Given the description of an element on the screen output the (x, y) to click on. 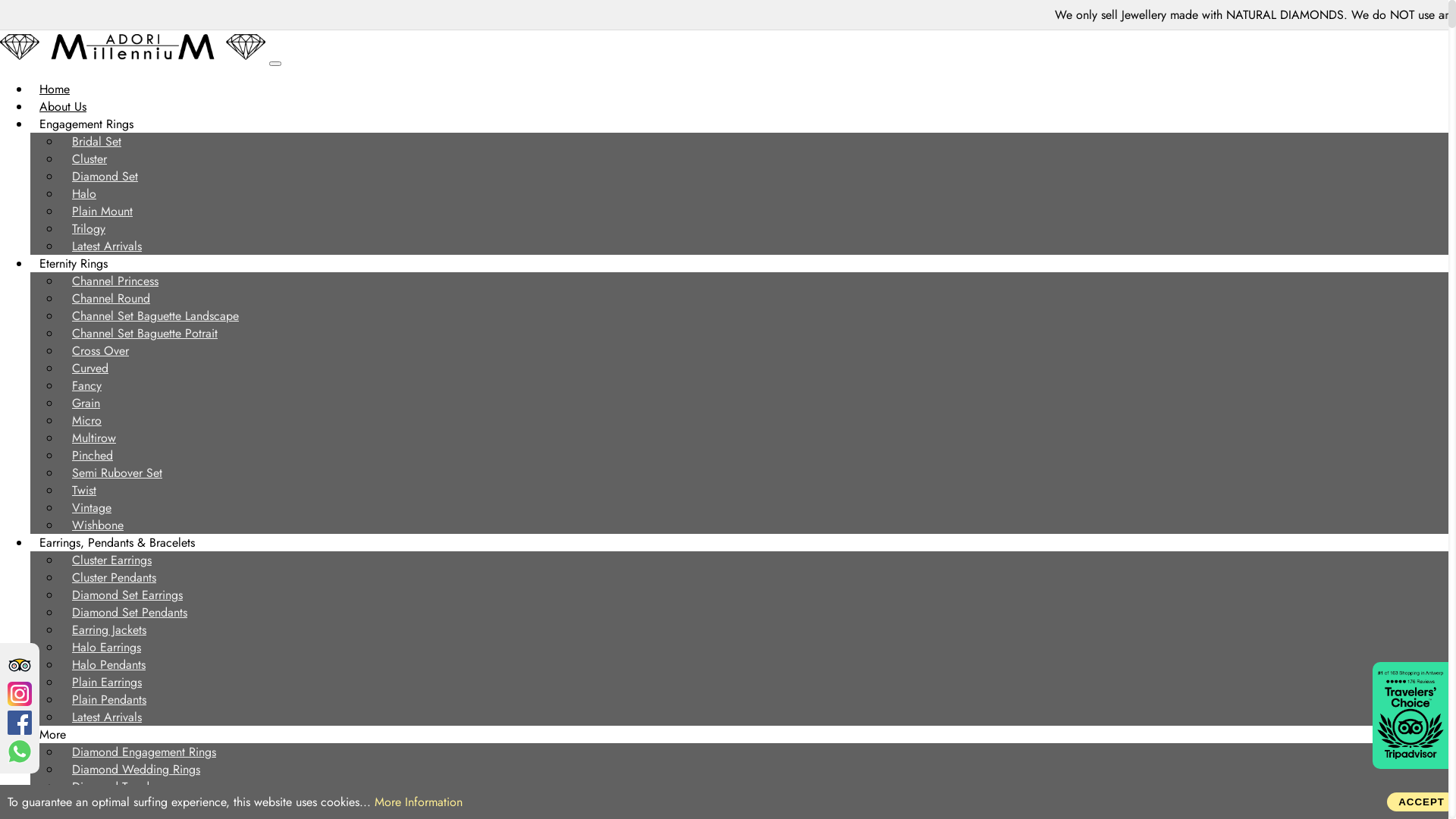
Earrings, Pendants & Bracelets Element type: text (116, 542)
More Element type: text (52, 734)
Facebook | Adori Millennium Element type: hover (19, 751)
Tripadvisor | Adori Millennium Element type: hover (19, 664)
Channel Round Element type: text (110, 298)
Diamond Engagement Rings Element type: text (143, 751)
Cluster Earrings Element type: text (111, 559)
Channel Set Baguette Landscape Element type: text (155, 315)
Halo Earrings Element type: text (106, 646)
Latest Arrivals Element type: text (106, 716)
Adori Millennium Element type: hover (132, 46)
Vintage Element type: text (91, 507)
Twist Element type: text (83, 490)
Love Stories Element type: text (102, 803)
Diamond Trends Element type: text (112, 786)
More Information Element type: text (418, 801)
Diamond Wedding Rings Element type: text (135, 769)
Bridal Set Element type: text (96, 141)
About Us Element type: text (62, 106)
Channel Set Baguette Potrait Element type: text (144, 333)
Tripadvisor | Adori Millennium Element type: hover (1410, 715)
Cluster Element type: text (89, 158)
Multirow Element type: text (93, 437)
Plain Earrings Element type: text (106, 681)
Fancy Element type: text (86, 385)
Instagram | Adori Millennium Element type: hover (19, 693)
Engagement Rings Element type: text (86, 123)
Earring Jackets Element type: text (108, 629)
Plain Pendants Element type: text (108, 699)
Cross Over Element type: text (100, 350)
Instagram | Adori Millennium Element type: hover (19, 693)
Latest Arrivals Element type: text (106, 245)
Plain Mount Element type: text (102, 210)
Cluster Pendants Element type: text (113, 577)
Pinched Element type: text (92, 455)
Facebook | Adori Millennium Element type: hover (19, 722)
Diamond Set Earrings Element type: text (127, 594)
Curved Element type: text (89, 367)
Tripadvisor | Adori Millennium Element type: hover (19, 664)
Channel Princess Element type: text (114, 280)
Wishbone Element type: text (97, 524)
Home Element type: text (54, 88)
Tripadvisor | Adori Millennium Element type: hover (1410, 764)
WhatsApp | Adori Millennium Element type: hover (19, 751)
Eternity Rings Element type: text (73, 263)
Diamond Set Pendants Element type: text (129, 612)
Facebook | Adori Millennium Element type: hover (19, 722)
Halo Pendants Element type: text (108, 664)
Diamond Set Element type: text (104, 176)
Trilogy Element type: text (88, 228)
Semi Rubover Set Element type: text (116, 472)
Micro Element type: text (86, 420)
Halo Element type: text (83, 193)
Grain Element type: text (85, 402)
